Given the description of an element on the screen output the (x, y) to click on. 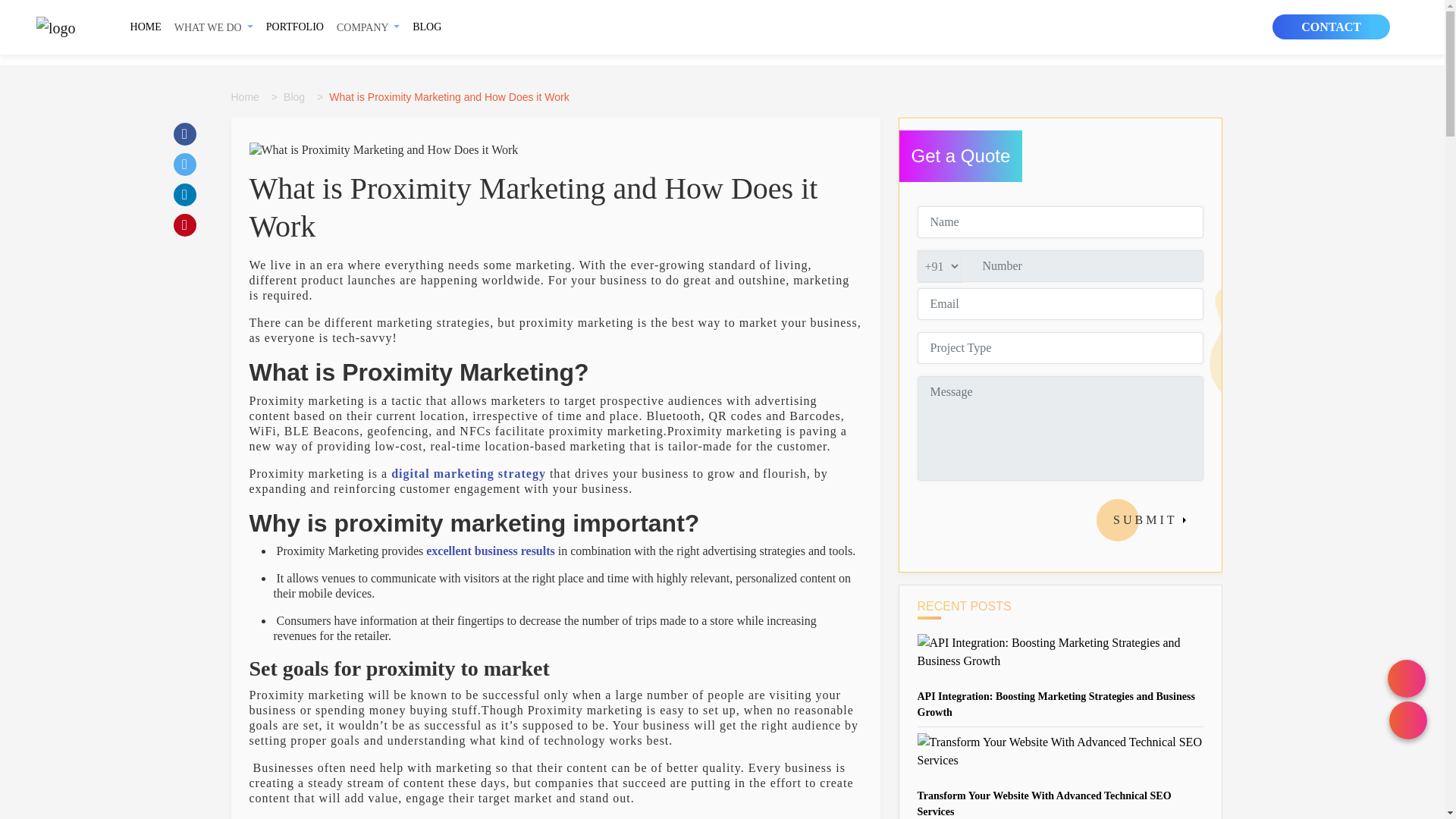
Home (247, 96)
BLOG (426, 26)
Transform Your Website With Advanced Technical SEO Services (1044, 803)
digital marketing company  (490, 550)
Blog (297, 96)
HOME (145, 26)
WHAT WE DO (213, 26)
COMPANY (368, 26)
digital marketing strategy (468, 472)
PORTFOLIO (295, 26)
excellent business results (490, 550)
CONTACT (1331, 26)
